Given the description of an element on the screen output the (x, y) to click on. 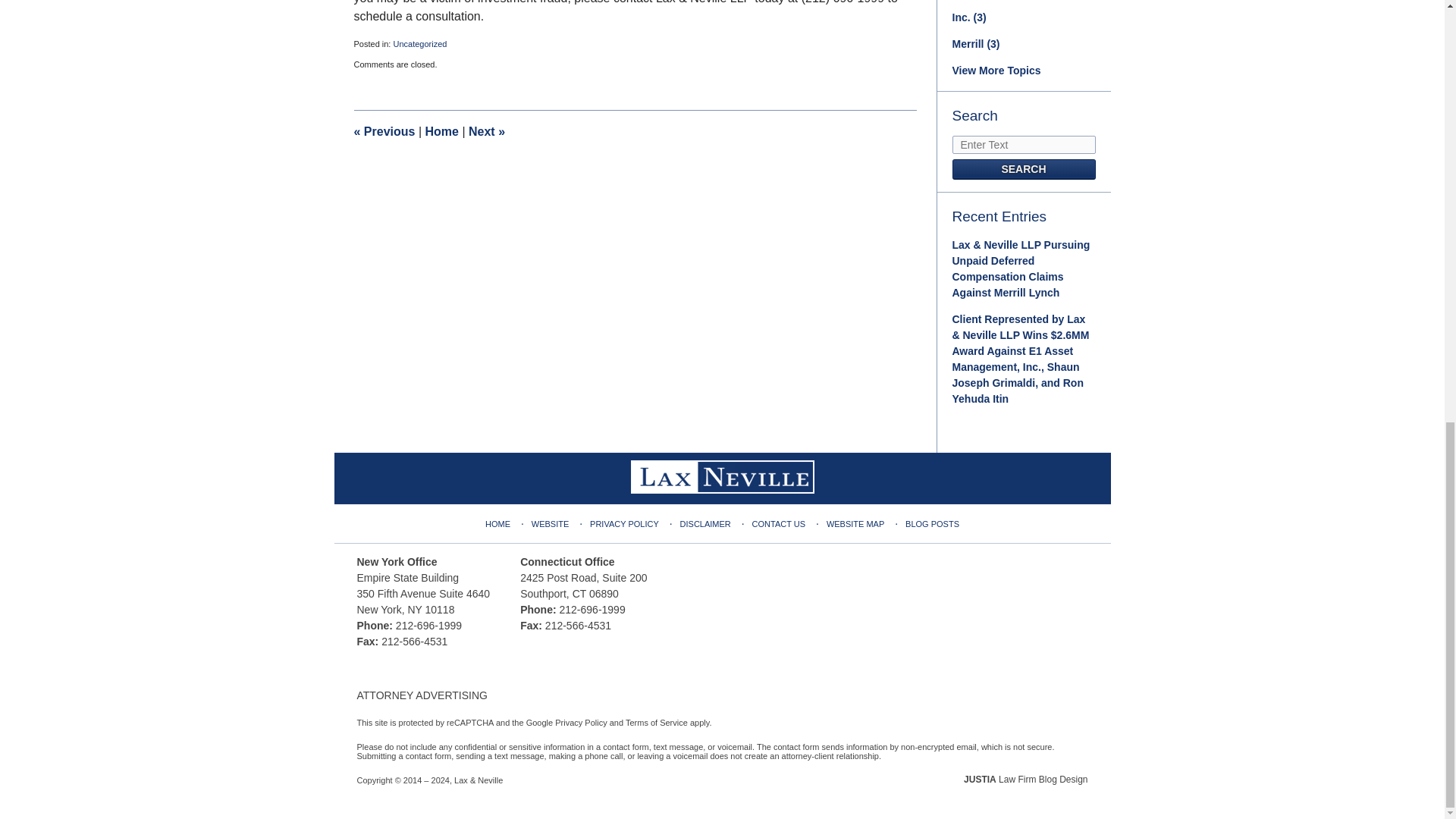
Home (441, 131)
Uncategorized (419, 43)
View all posts in Uncategorized (419, 43)
